Given the description of an element on the screen output the (x, y) to click on. 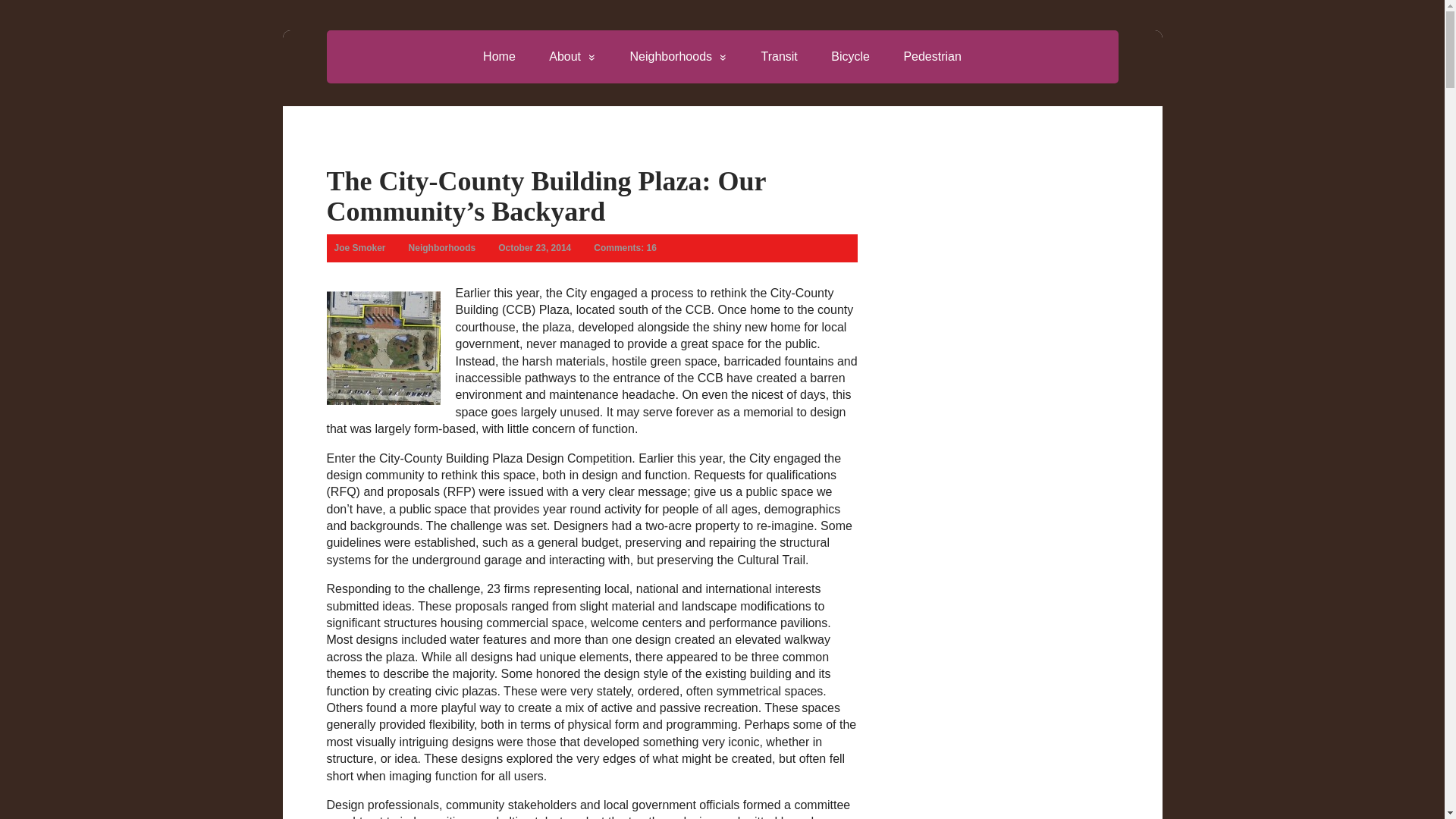
Comments: 16 (624, 248)
Pedestrian (932, 56)
Neighborhoods (678, 56)
Neighborhoods (442, 248)
About (572, 56)
Transit (778, 56)
Bicycle (850, 56)
Home (499, 56)
